Given the description of an element on the screen output the (x, y) to click on. 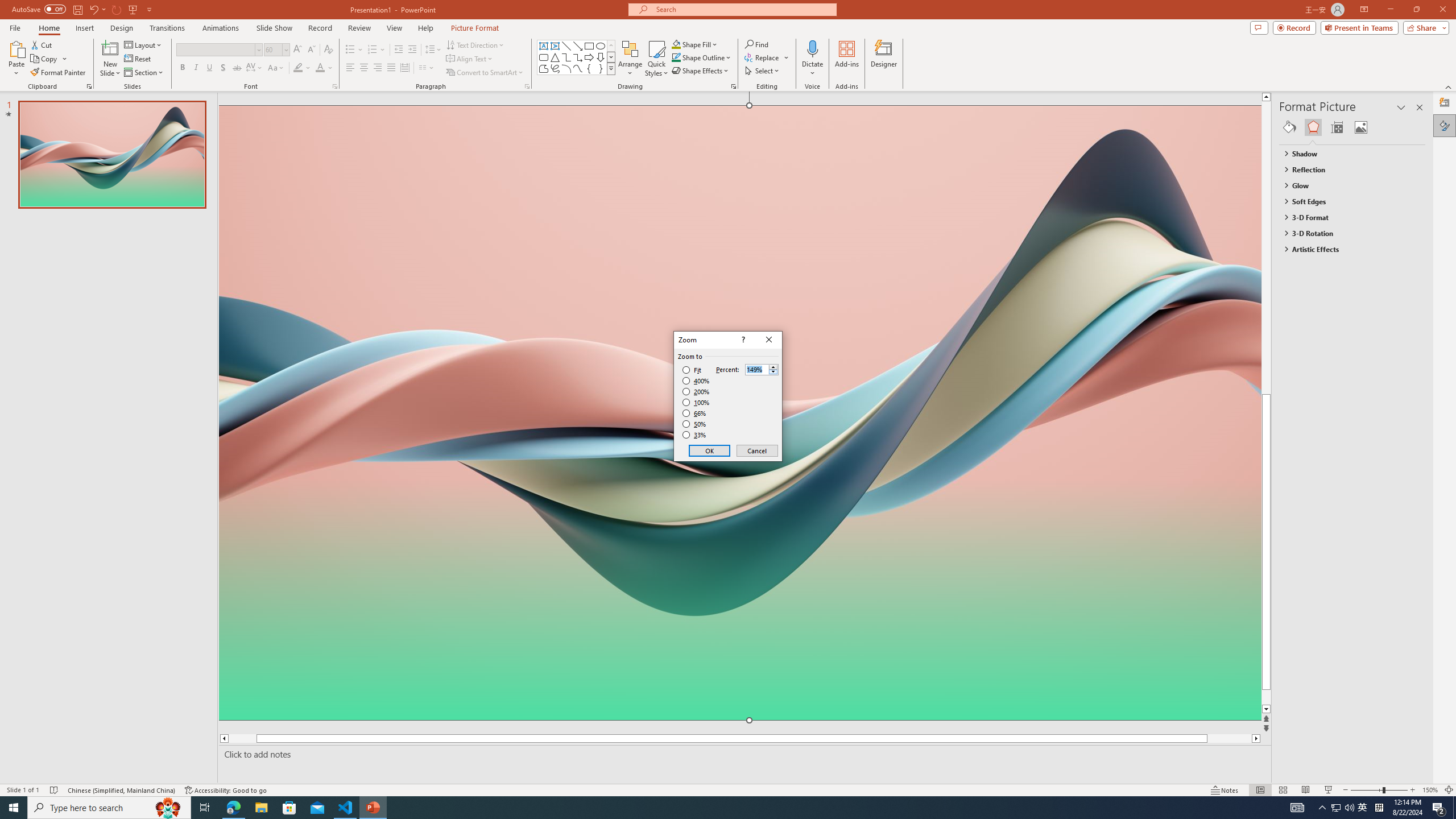
100% (696, 402)
Format Picture (1444, 125)
